Given the description of an element on the screen output the (x, y) to click on. 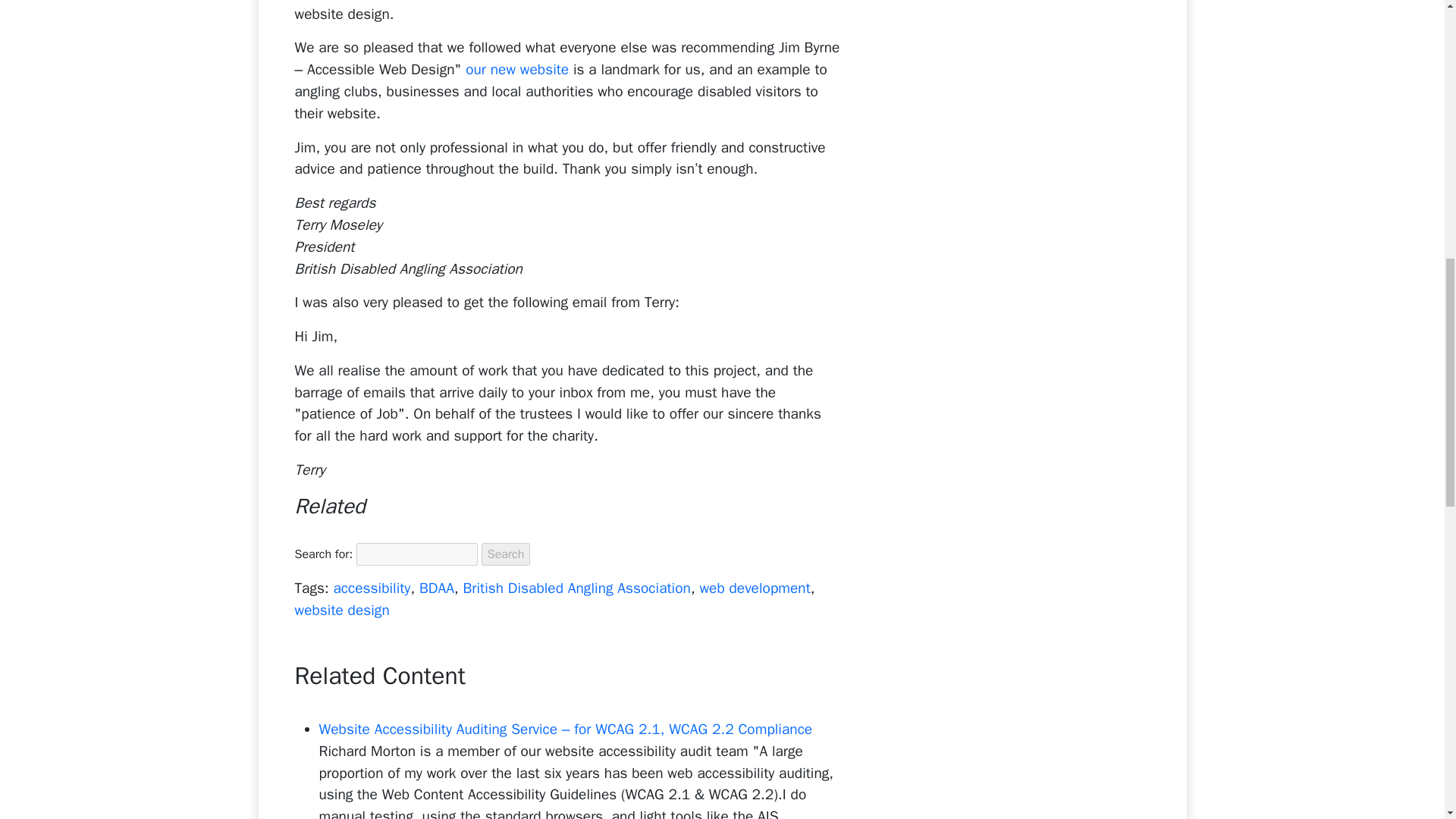
Search (506, 553)
accessibility (371, 588)
our new website (517, 69)
Search (506, 553)
web development (753, 588)
BDAA (436, 588)
website design (341, 610)
British Disabled Angling Association (576, 588)
